Given the description of an element on the screen output the (x, y) to click on. 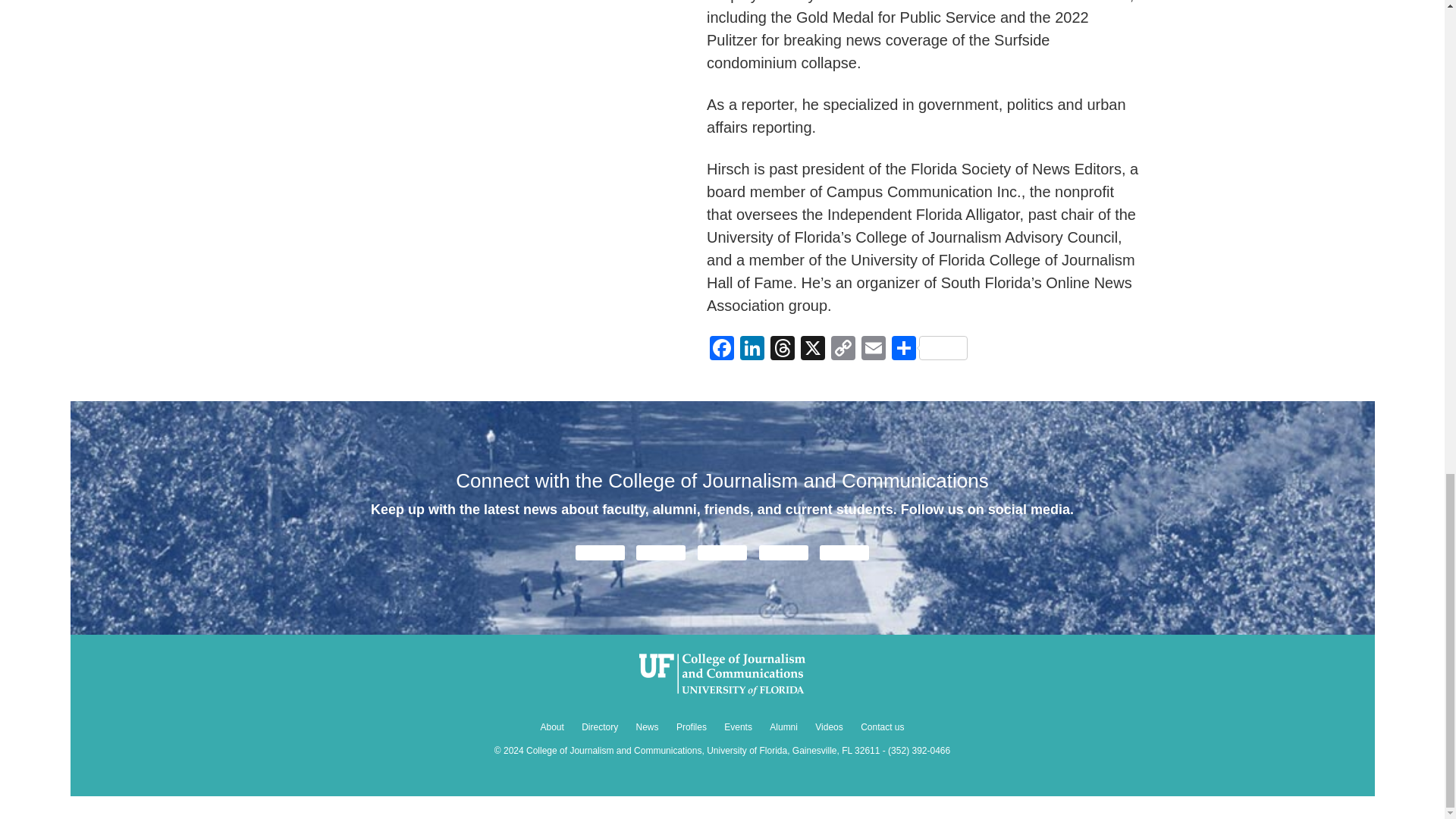
Email (873, 349)
Copy Link (843, 349)
Threads (782, 349)
Facebook (721, 349)
LinkedIn (751, 349)
X (812, 349)
